Given the description of an element on the screen output the (x, y) to click on. 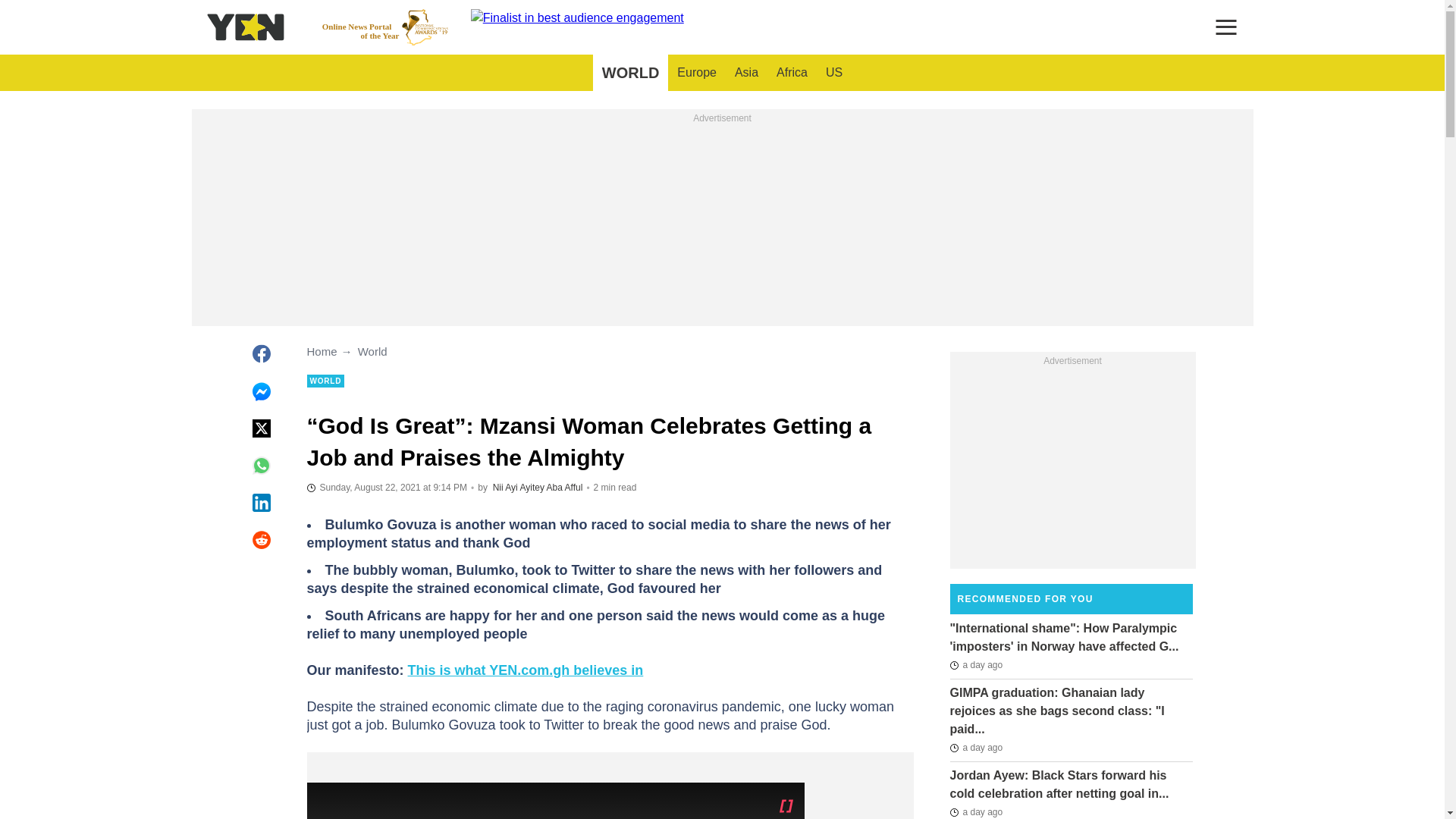
Europe (696, 72)
Author page (565, 487)
3rd party ad content (1072, 464)
WORLD (630, 72)
Asia (384, 27)
Primis Frame (746, 72)
3rd party ad content (791, 72)
US (721, 221)
2021-08-22T21:14:30Z (833, 72)
Author page (386, 487)
